Given the description of an element on the screen output the (x, y) to click on. 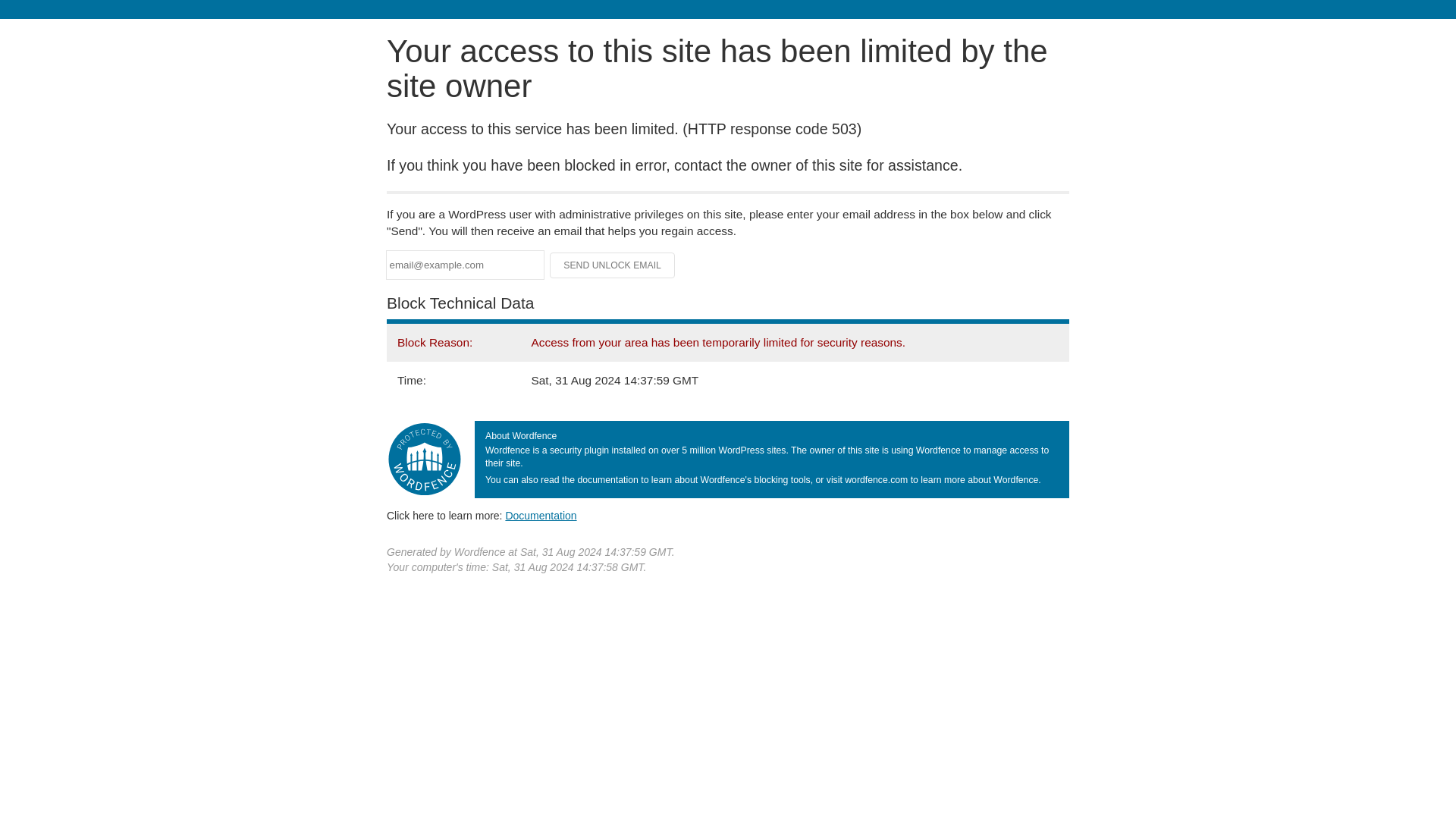
Send Unlock Email (612, 265)
Documentation (540, 515)
Send Unlock Email (612, 265)
